Given the description of an element on the screen output the (x, y) to click on. 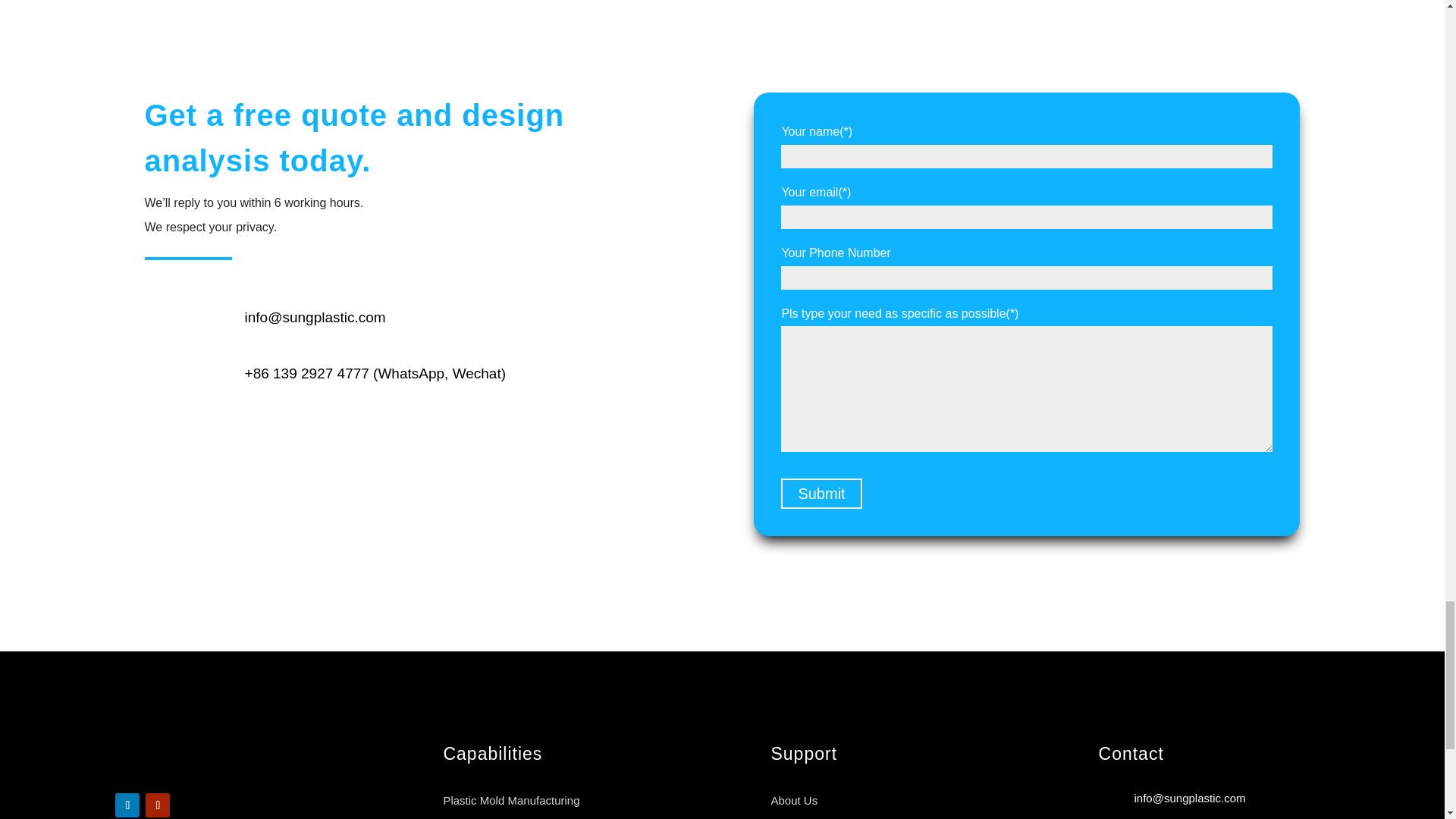
Follow on LinkedIn (127, 805)
sungplastic logo (228, 759)
Submit (820, 493)
Follow on Youtube (157, 805)
